Given the description of an element on the screen output the (x, y) to click on. 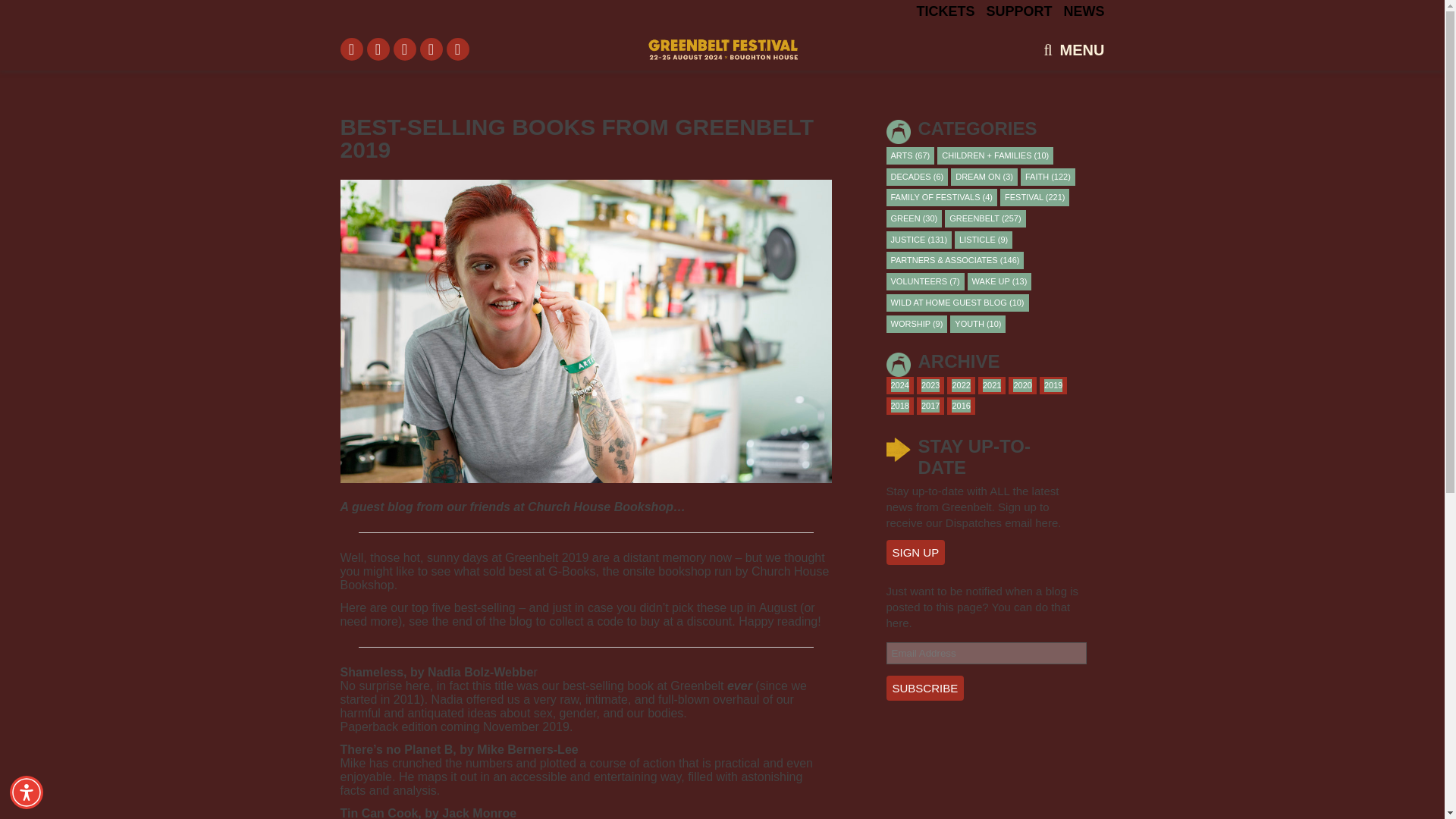
Accessibility Menu (26, 792)
NEWS (1082, 11)
Instagram (403, 48)
TICKETS (944, 11)
YouTube (456, 48)
Facebook (350, 48)
Twitter (378, 48)
SUPPORT (1018, 11)
Spotify (431, 48)
MENU (1082, 49)
